Given the description of an element on the screen output the (x, y) to click on. 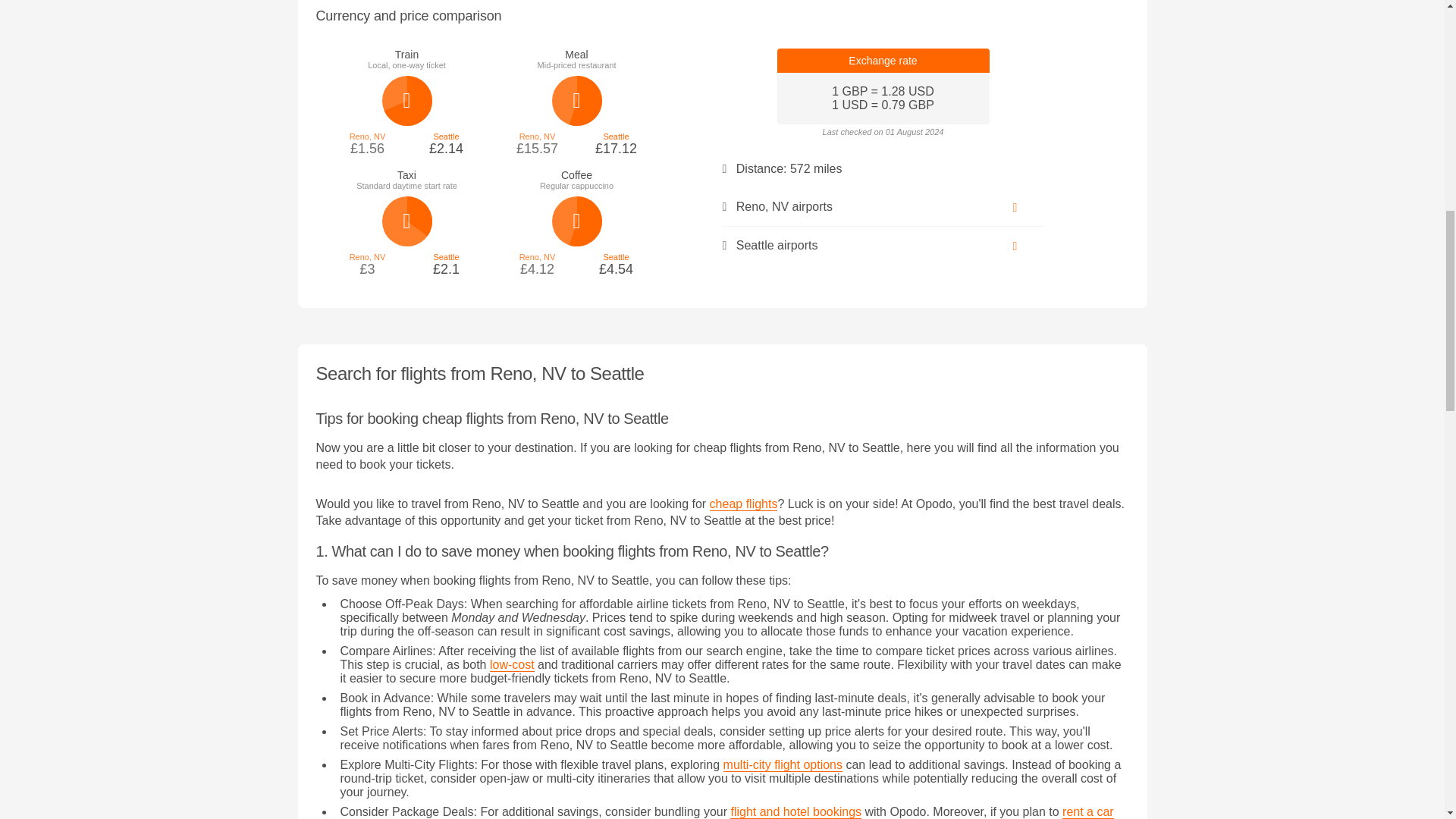
flight and hotel bookings (795, 812)
cheap flights (743, 504)
rent a car (1087, 812)
multi-city flight options (783, 765)
low-cost (511, 664)
